Given the description of an element on the screen output the (x, y) to click on. 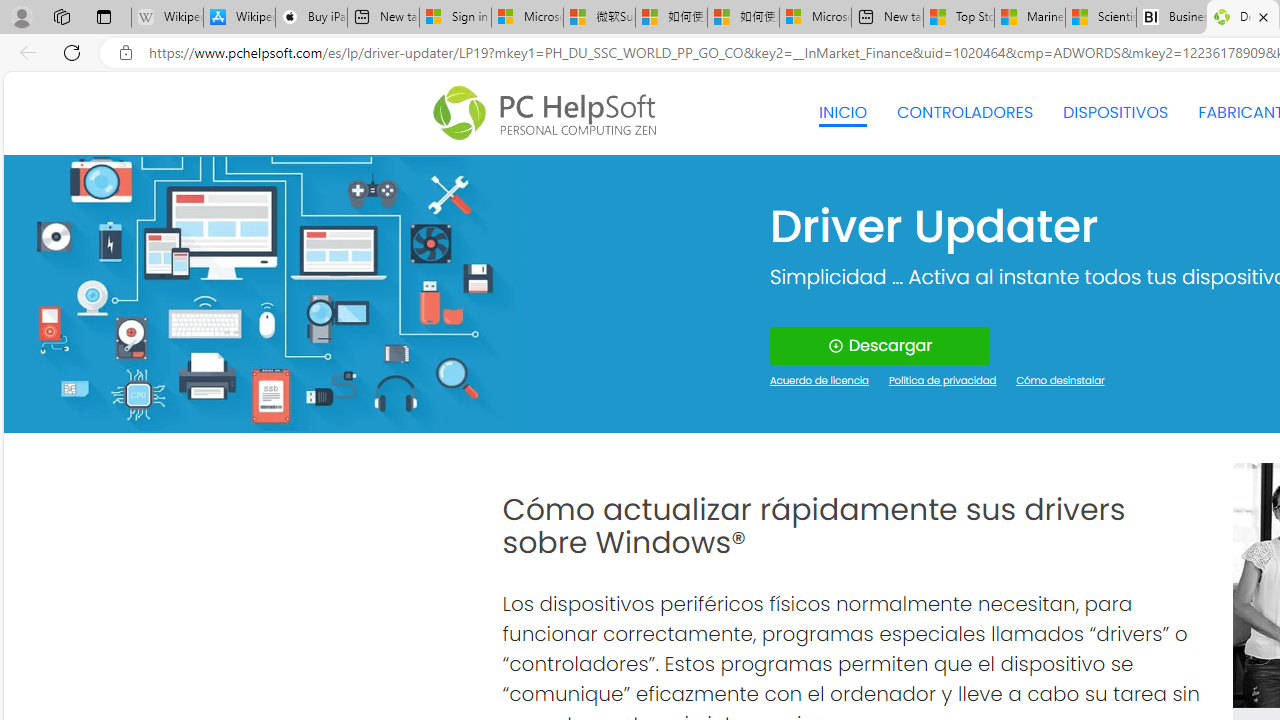
Sign in to your Microsoft account (455, 17)
Microsoft account | Account Checkup (815, 17)
CONTROLADORES (965, 112)
DISPOSITIVOS (1115, 112)
DISPOSITIVOS (1115, 112)
CONTROLADORES (965, 112)
Acuerdo de licencia (819, 381)
Logo Personal Computing (550, 113)
Generic (263, 293)
